Given the description of an element on the screen output the (x, y) to click on. 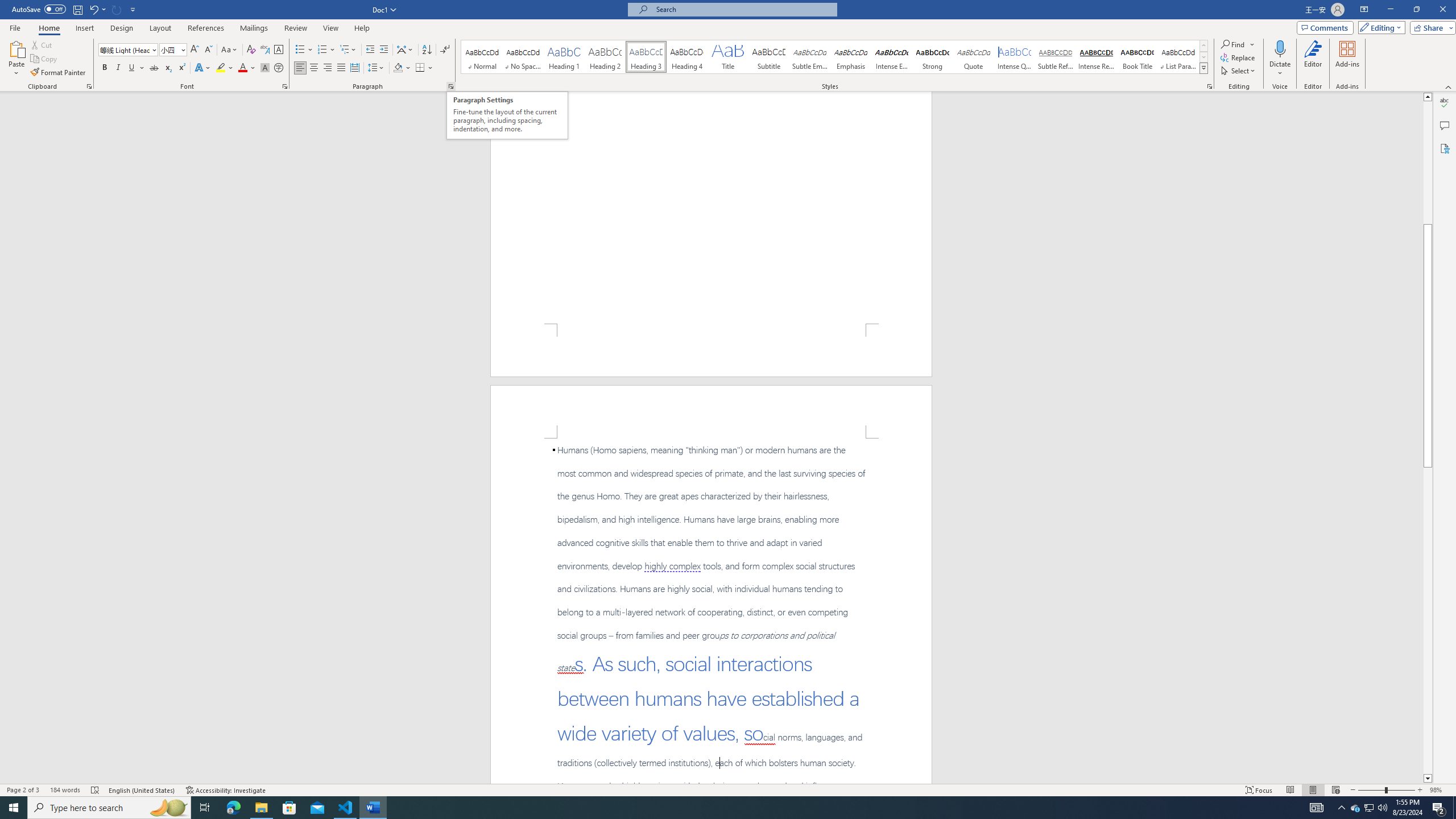
Enclose Characters... (278, 67)
Footer -Section 1- (710, 349)
Title (727, 56)
Sort... (426, 49)
Microsoft search (742, 9)
Format Painter (58, 72)
Text Highlight Color Yellow (220, 67)
Text Highlight Color (224, 67)
Language English (United States) (141, 790)
